Given the description of an element on the screen output the (x, y) to click on. 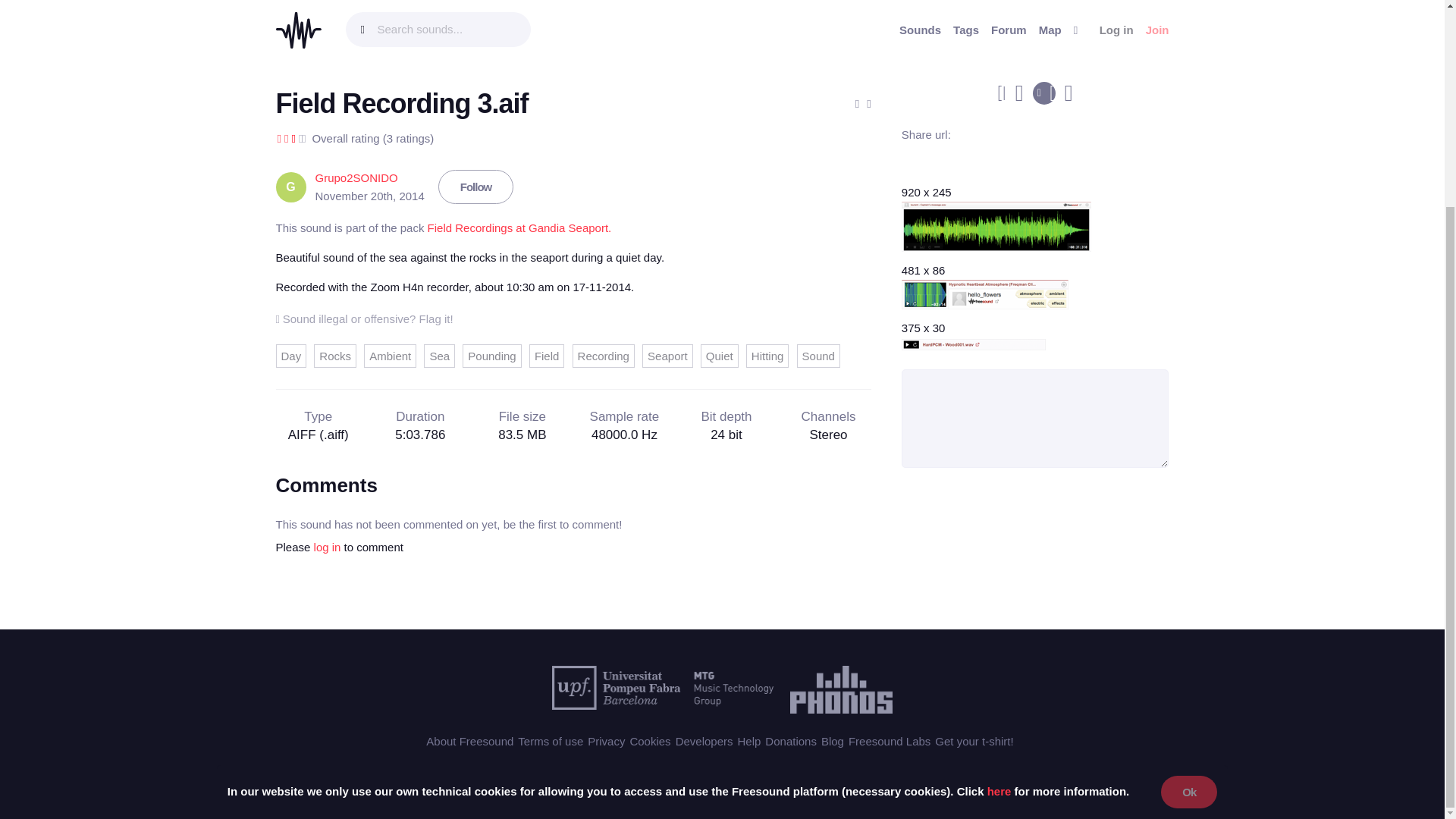
here (999, 524)
Field Recording 3.aif (402, 102)
Ok (1188, 525)
Sound illegal or offensive? Flag it! (364, 318)
Follow (475, 186)
Field Recordings at Gandia Seaport. (519, 227)
Grupo2SONIDO (356, 177)
Day (291, 355)
Flag this sound as illegal, offensive or other... (364, 318)
